Given the description of an element on the screen output the (x, y) to click on. 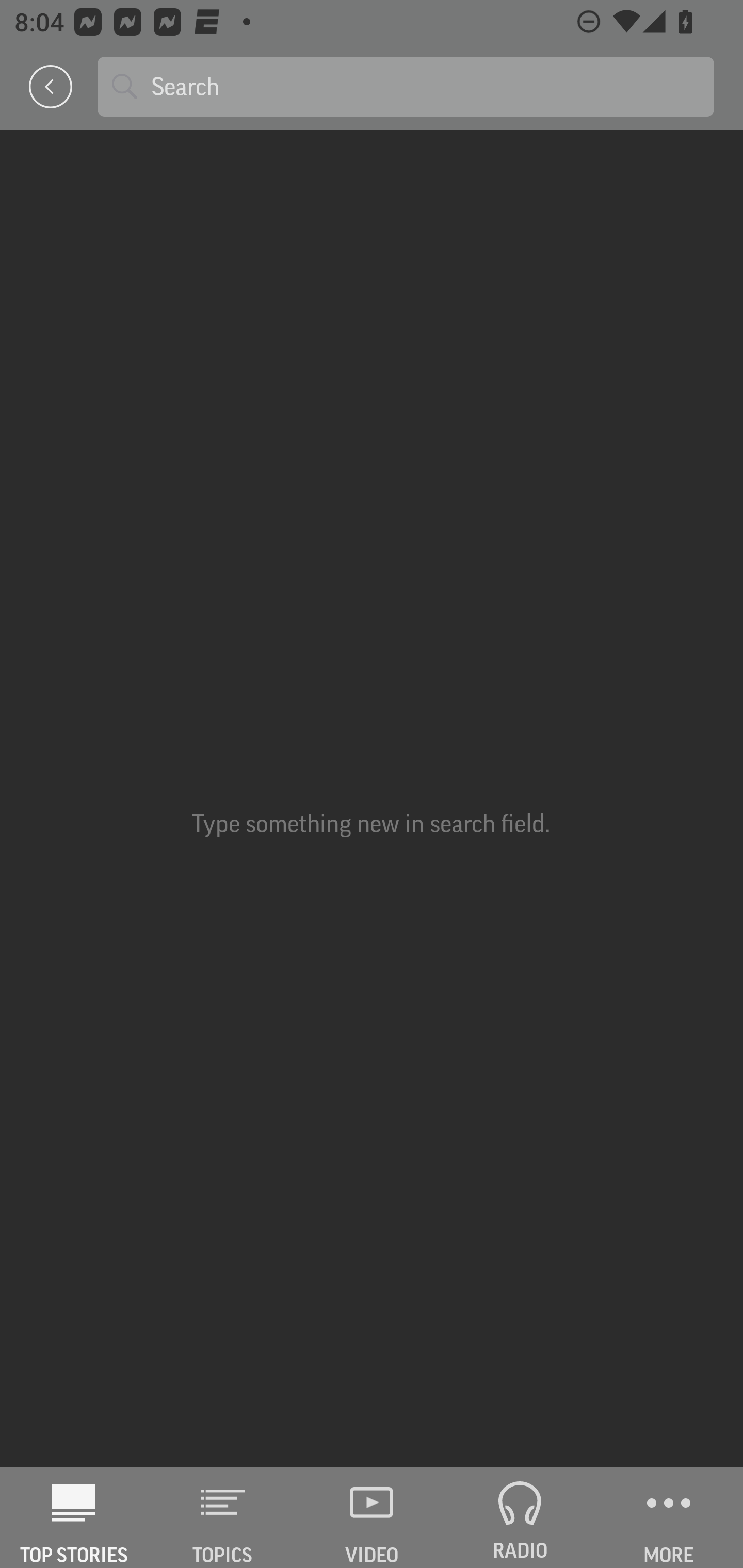
Search (425, 86)
AP News TOP STORIES (74, 1517)
TOPICS (222, 1517)
VIDEO (371, 1517)
RADIO (519, 1517)
MORE (668, 1517)
